Given the description of an element on the screen output the (x, y) to click on. 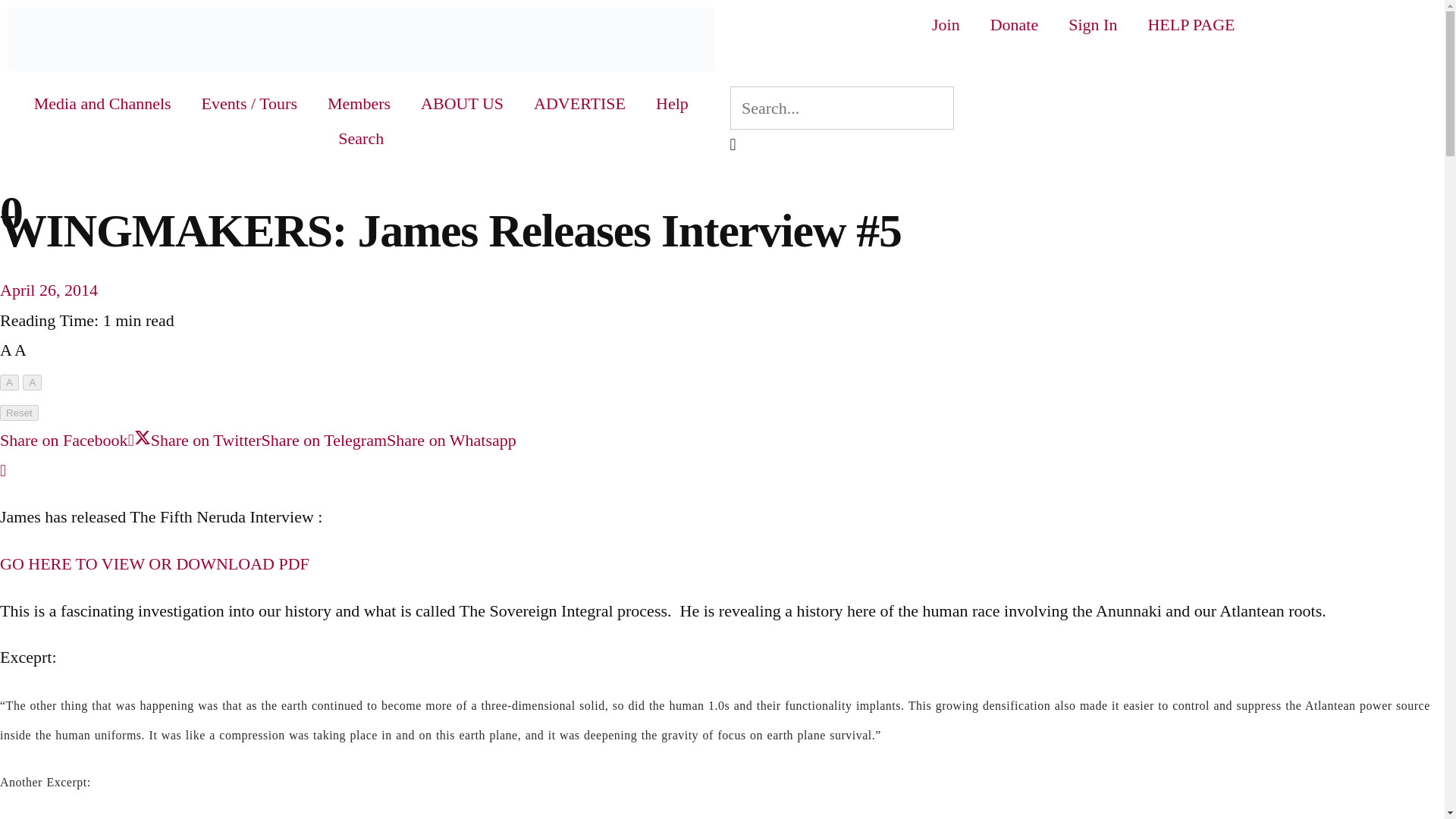
Sign In (1092, 24)
Media and Channels (102, 103)
Join (946, 24)
Donate (1014, 24)
HELP PAGE (1190, 24)
